Given the description of an element on the screen output the (x, y) to click on. 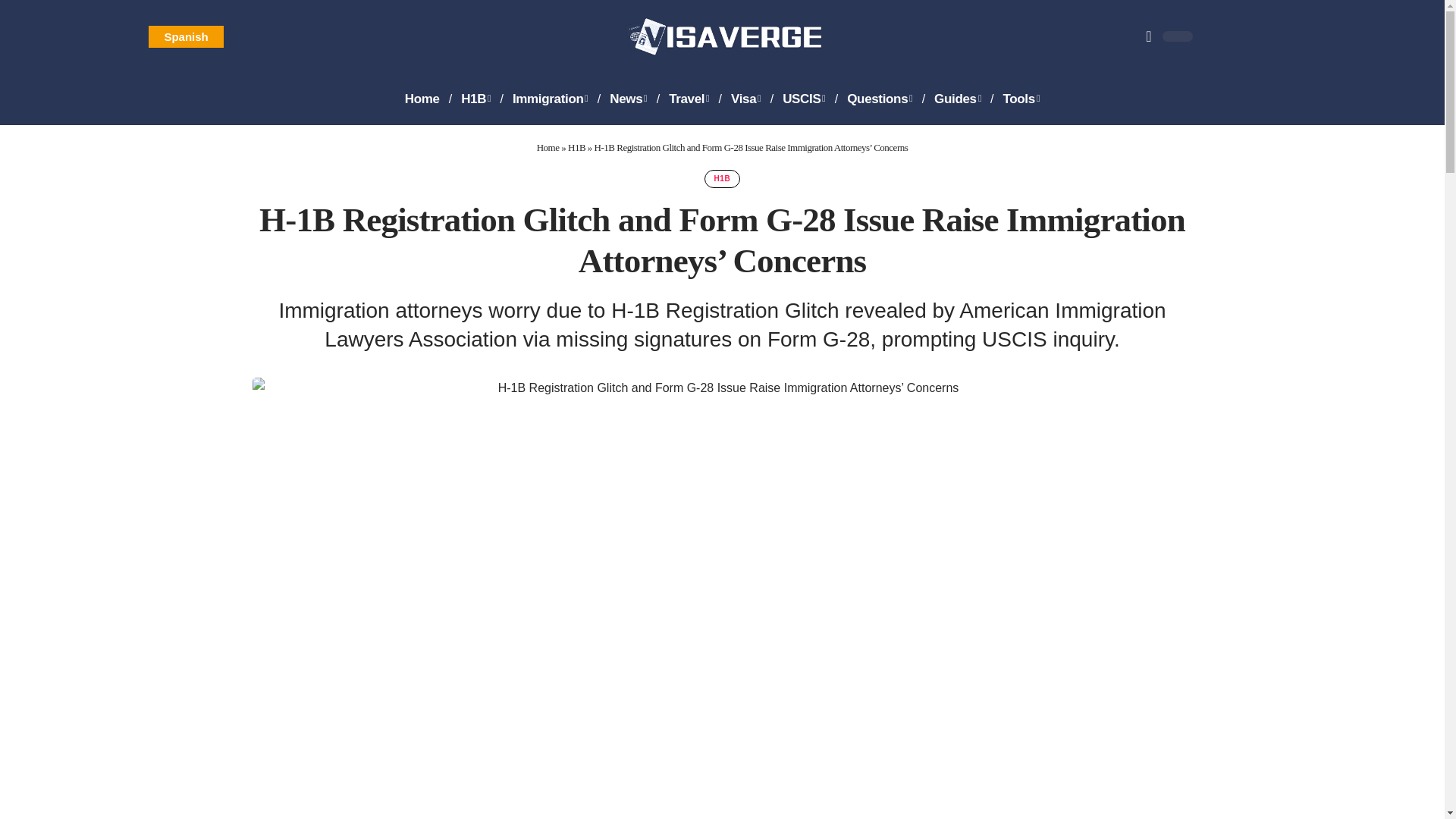
Spanish (185, 36)
H1B (475, 99)
Home (422, 99)
Immigration (549, 99)
Visa (746, 99)
News (627, 99)
Travel (688, 99)
